Given the description of an element on the screen output the (x, y) to click on. 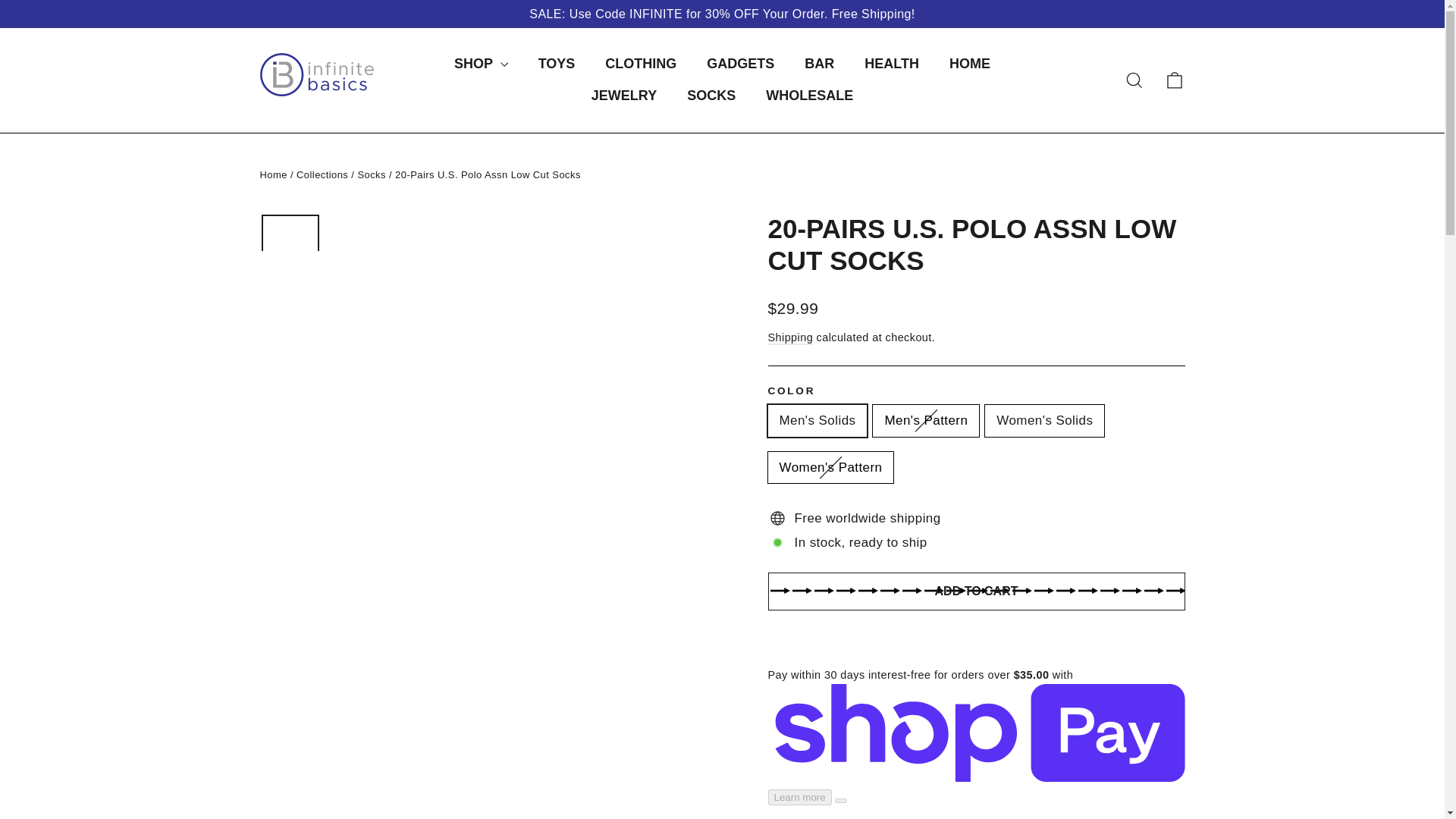
GADGETS (740, 64)
Back to the frontpage (272, 174)
SHOP (480, 64)
TOYS (556, 64)
CLOTHING (640, 64)
